Given the description of an element on the screen output the (x, y) to click on. 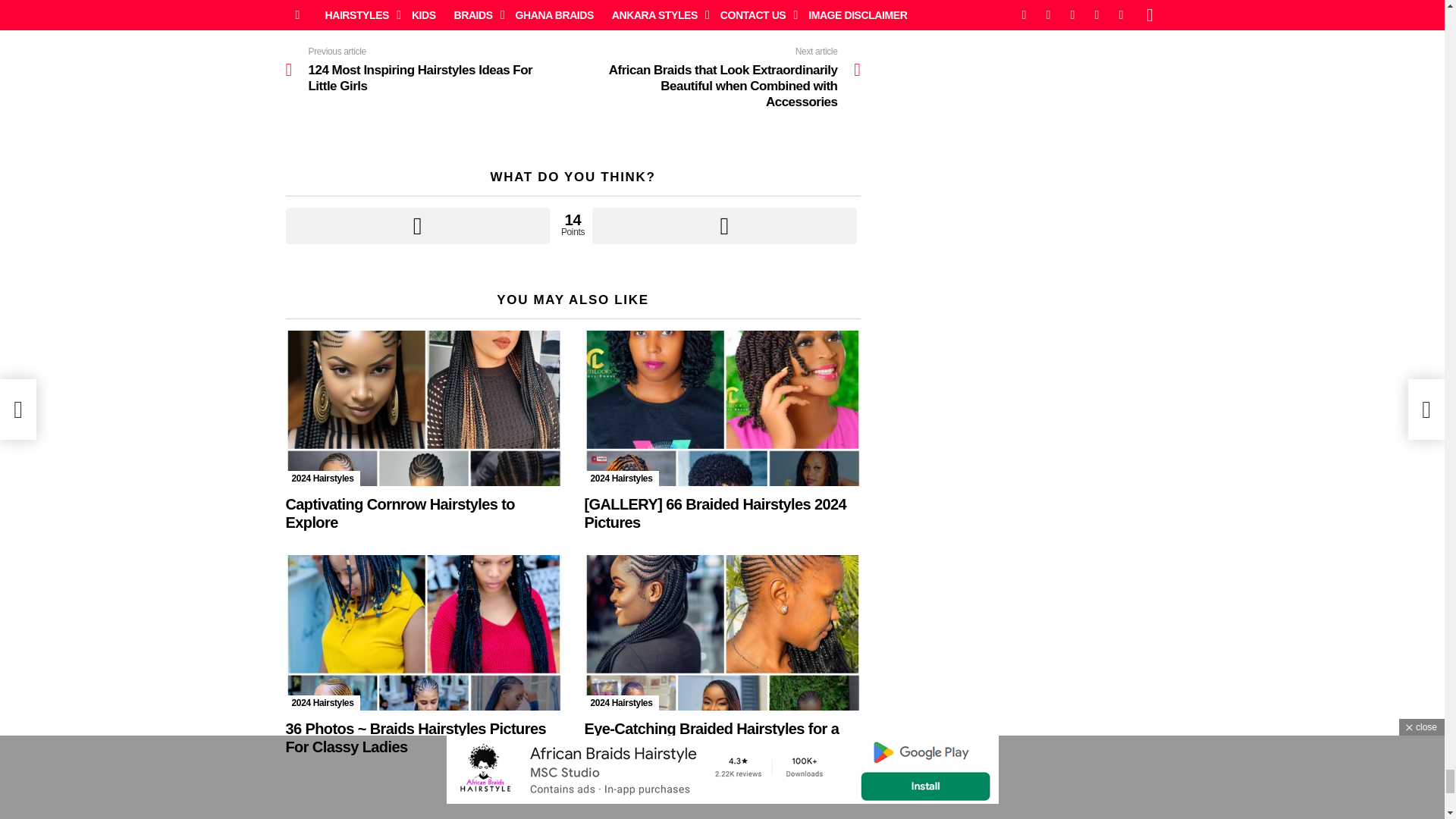
Downvote (724, 226)
Upvote (416, 226)
Eye-Catching Braided Hairstyles for a Stylish New Look (721, 632)
Captivating Cornrow Hairstyles to Explore (422, 408)
